Given the description of an element on the screen output the (x, y) to click on. 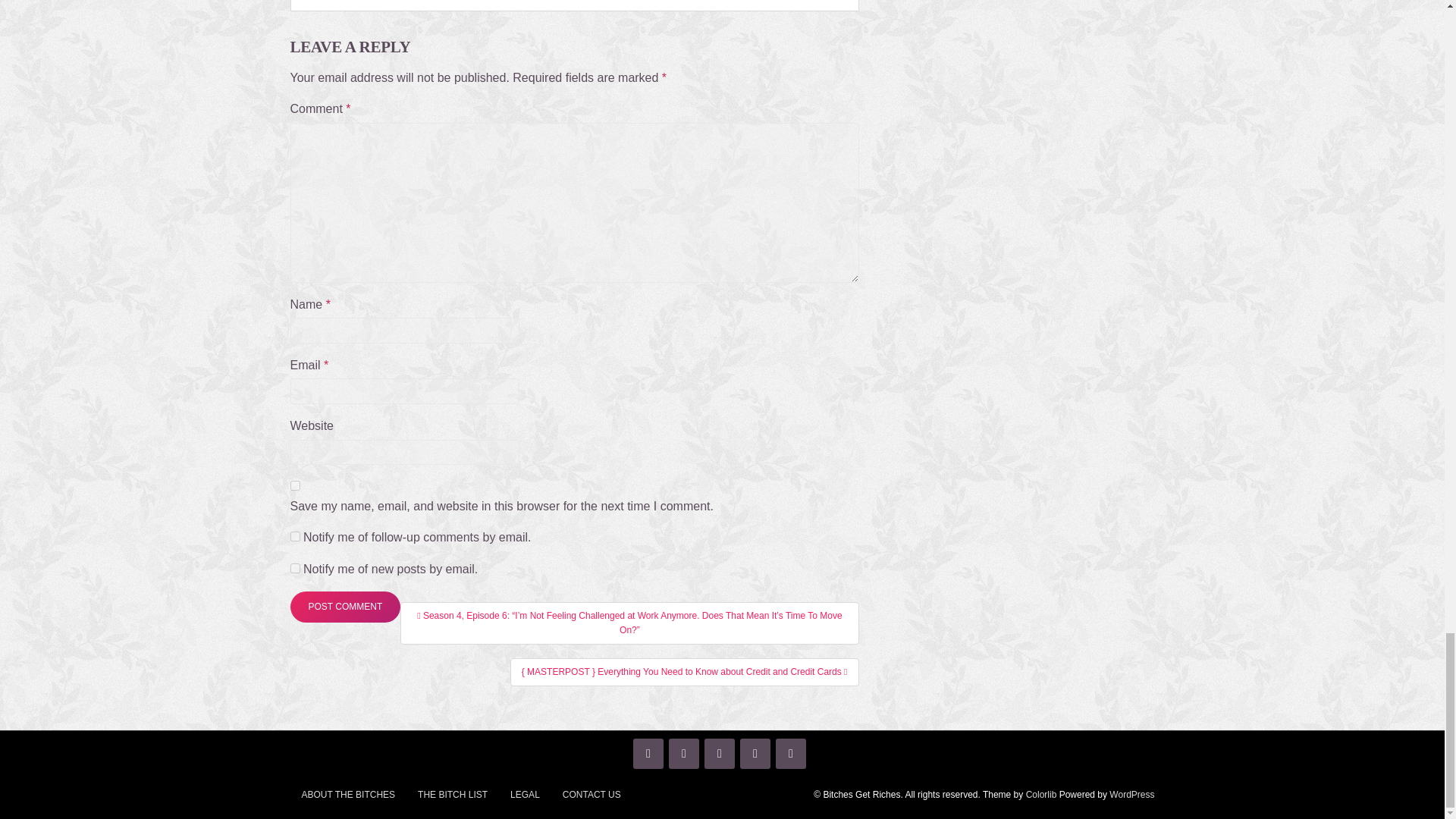
Post Comment (344, 605)
subscribe (294, 536)
subscribe (294, 568)
yes (294, 485)
Post Comment (344, 605)
